Given the description of an element on the screen output the (x, y) to click on. 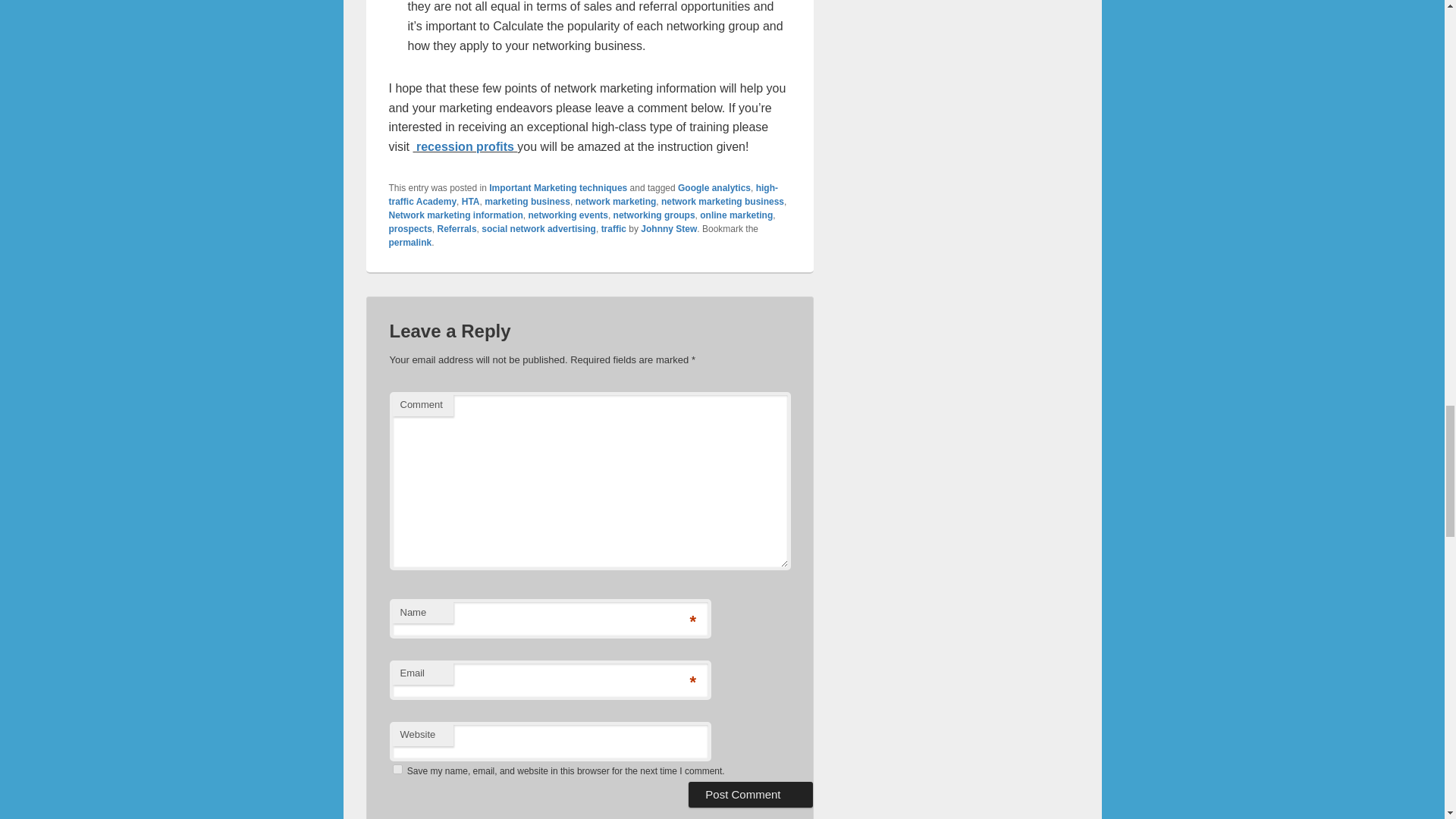
networking events (568, 214)
network marketing (615, 201)
marketing business (527, 201)
traffic (613, 228)
networking groups (653, 214)
Google analytics (714, 187)
Referrals (457, 228)
recession profits (464, 146)
Johnny Stew (668, 228)
prospects (409, 228)
yes (398, 768)
online marketing (736, 214)
Post Comment (750, 794)
Important Marketing techniques (558, 187)
Network marketing information (455, 214)
